Given the description of an element on the screen output the (x, y) to click on. 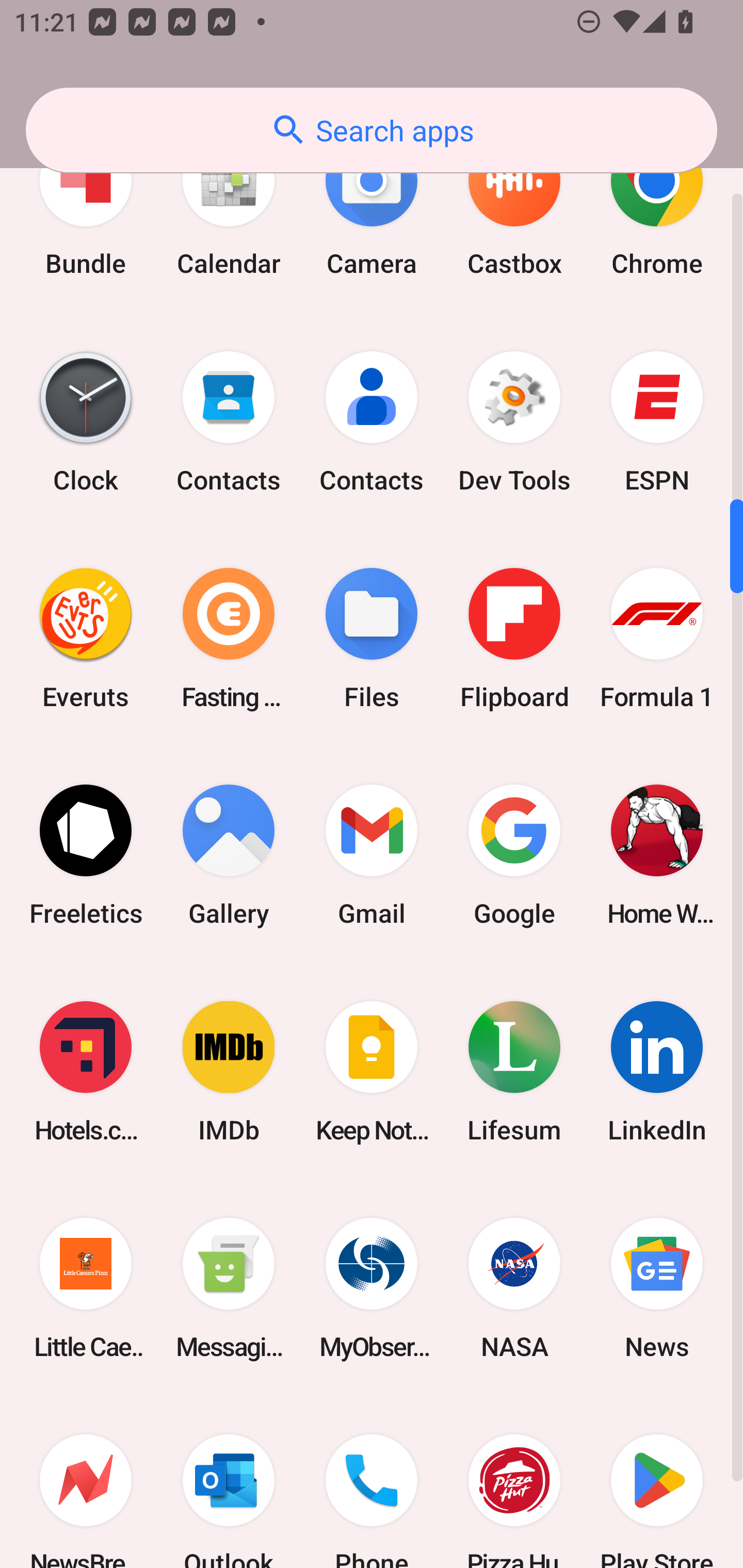
  Search apps (371, 130)
Bundle (85, 208)
Calendar (228, 208)
Camera (371, 208)
Castbox (514, 208)
Chrome (656, 208)
Clock (85, 421)
Contacts (228, 421)
Contacts (371, 421)
Dev Tools (514, 421)
ESPN (656, 421)
Everuts (85, 637)
Fasting Coach (228, 637)
Files (371, 637)
Flipboard (514, 637)
Formula 1 (656, 637)
Freeletics (85, 854)
Gallery (228, 854)
Gmail (371, 854)
Google (514, 854)
Home Workout (656, 854)
Hotels.com (85, 1071)
IMDb (228, 1071)
Keep Notes (371, 1071)
Lifesum (514, 1071)
LinkedIn (656, 1071)
Little Caesars Pizza (85, 1288)
Messaging (228, 1288)
MyObservatory (371, 1288)
NASA (514, 1288)
News (656, 1288)
NewsBreak (85, 1482)
Outlook (228, 1482)
Phone (371, 1482)
Pizza Hut HK & Macau (514, 1482)
Play Store (656, 1482)
